Given the description of an element on the screen output the (x, y) to click on. 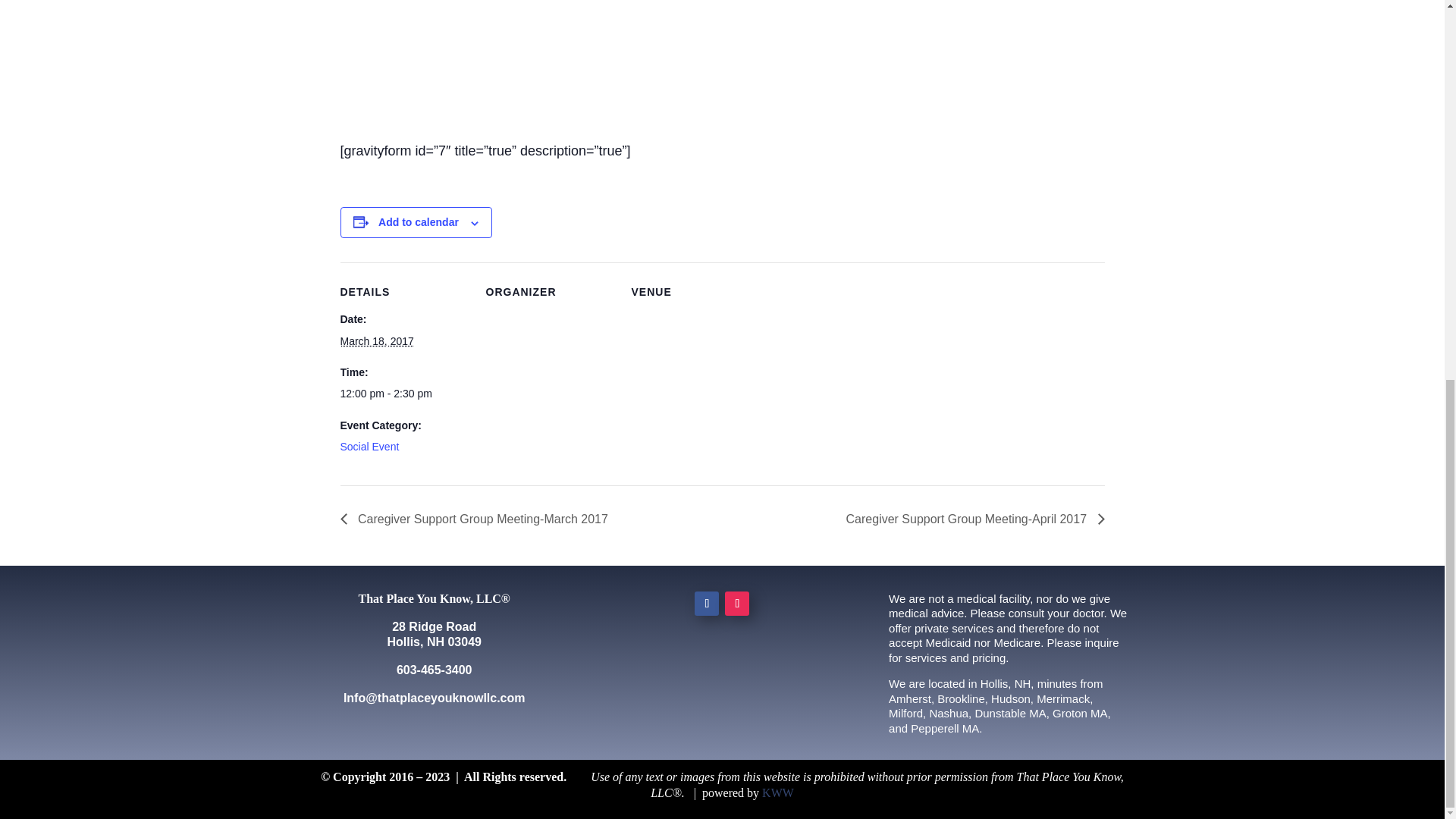
Follow on Facebook (706, 603)
Follow on Instagram (737, 603)
2017-03-18 (376, 340)
2017-03-18 (403, 394)
